Given the description of an element on the screen output the (x, y) to click on. 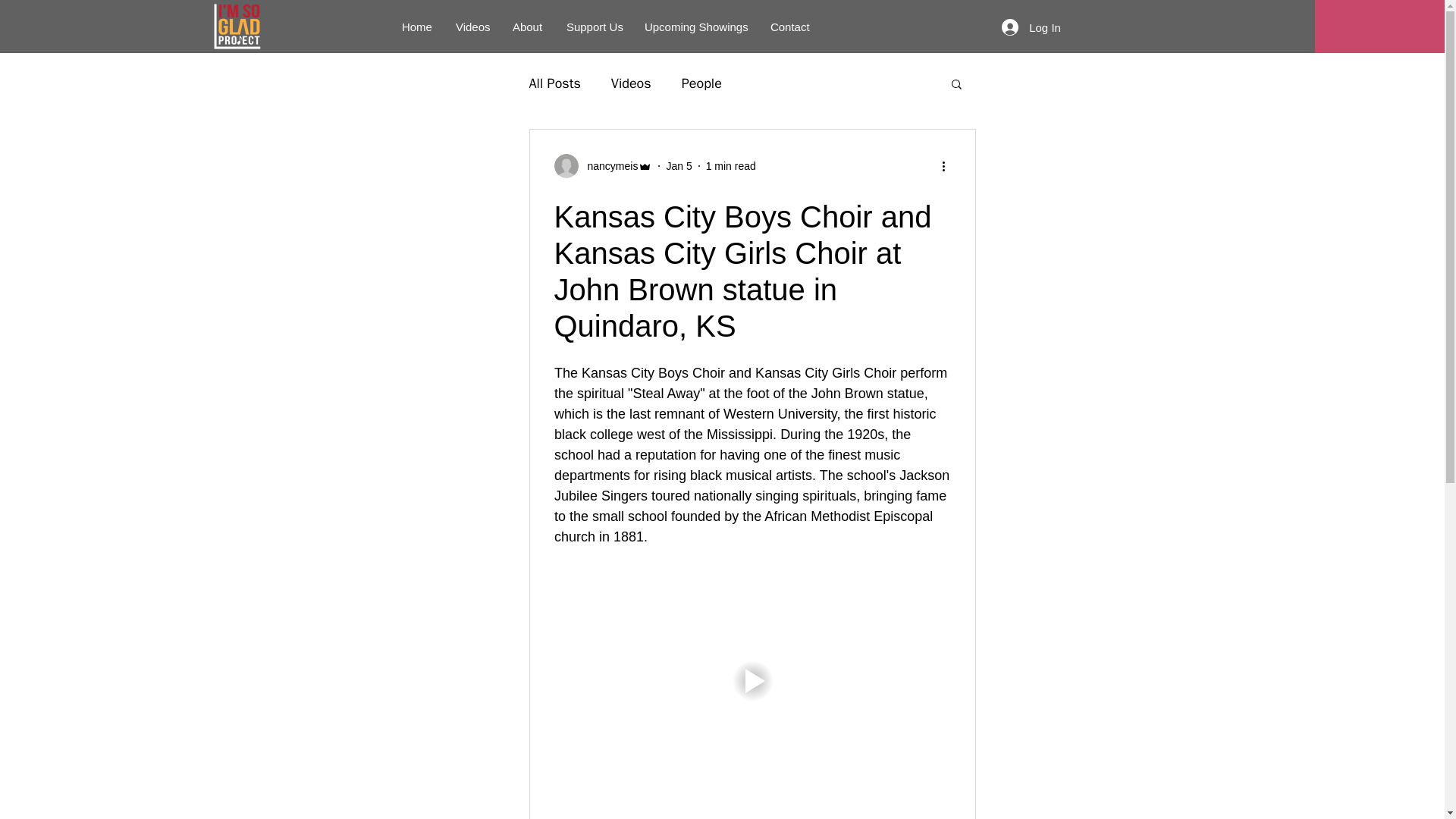
1 min read (730, 164)
Home (417, 27)
nancymeis (607, 165)
People (701, 83)
All Posts (554, 83)
Contact (790, 27)
Videos (630, 83)
Log In (1031, 27)
Jan 5 (678, 164)
nancymeis (602, 165)
